Given the description of an element on the screen output the (x, y) to click on. 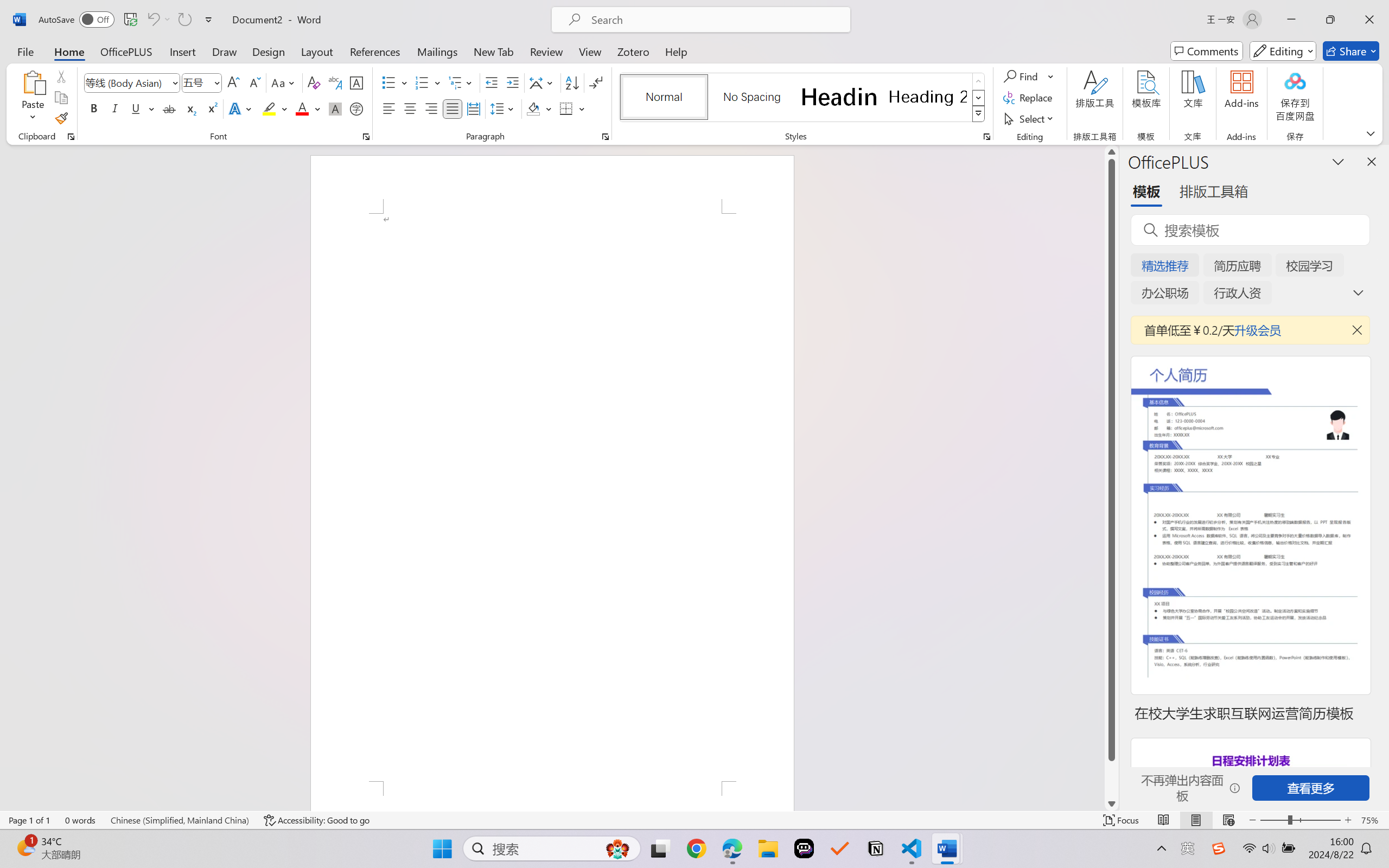
Row up (978, 81)
Open (215, 82)
View (589, 51)
Word Count 0 words (80, 819)
Show/Hide Editing Marks (595, 82)
Can't Undo (158, 19)
Phonetic Guide... (334, 82)
Accessibility Checker Accessibility: Good to go (317, 819)
Class: NetUIImage (978, 114)
Paste (33, 81)
